Given the description of an element on the screen output the (x, y) to click on. 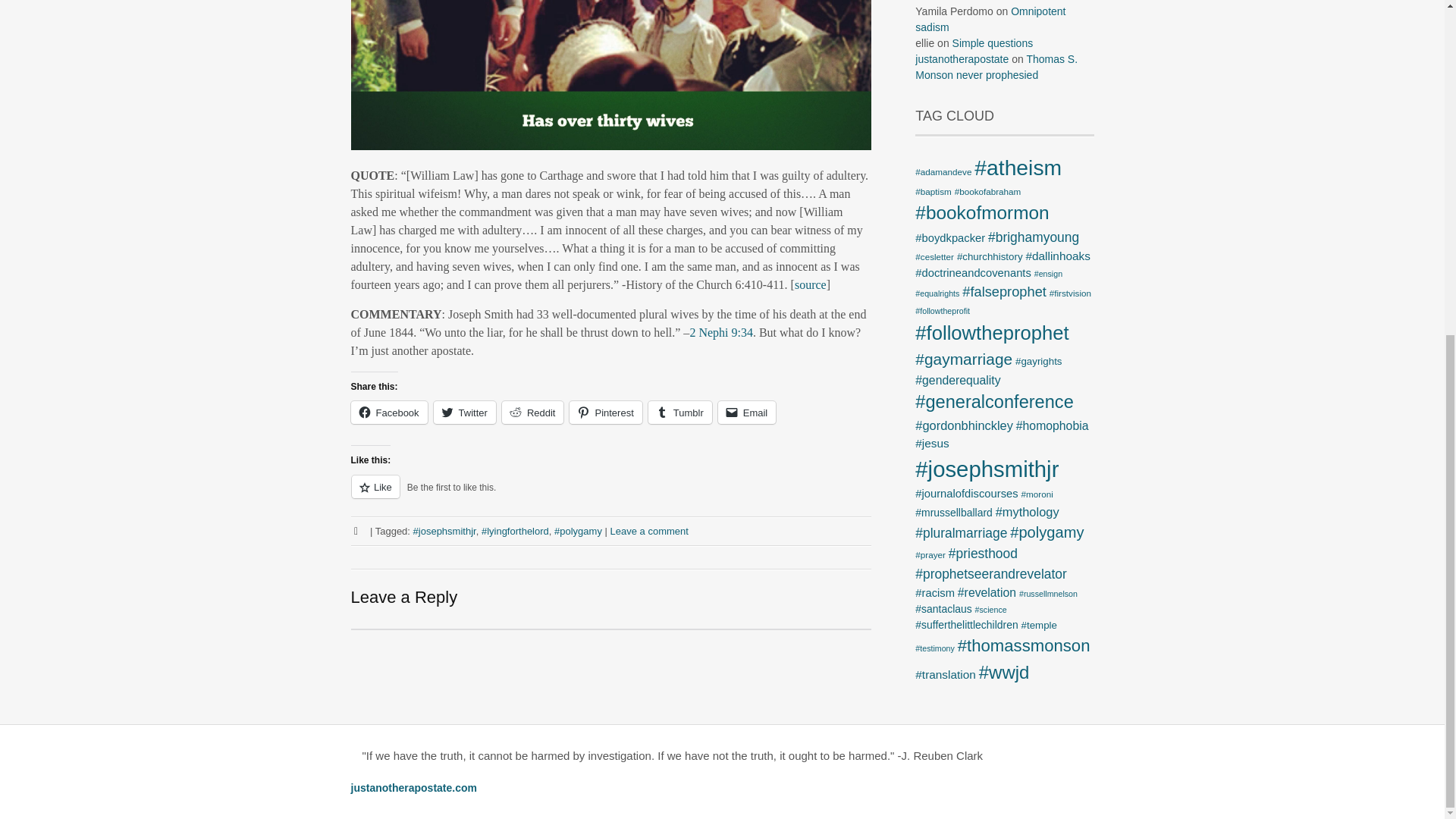
2 Nephi 9:34 (720, 331)
Tumblr (679, 412)
History of the Church, vol 6, chapter 19, pp. 410-411 (810, 284)
Facebook (388, 412)
Leave a comment (649, 531)
Click to share on Tumblr (679, 412)
Twitter (464, 412)
Like or Reblog (610, 495)
Click to share on Pinterest (605, 412)
justanotherapostate (962, 59)
source (810, 284)
Click to email a link to a friend (746, 412)
Reddit (533, 412)
